Given the description of an element on the screen output the (x, y) to click on. 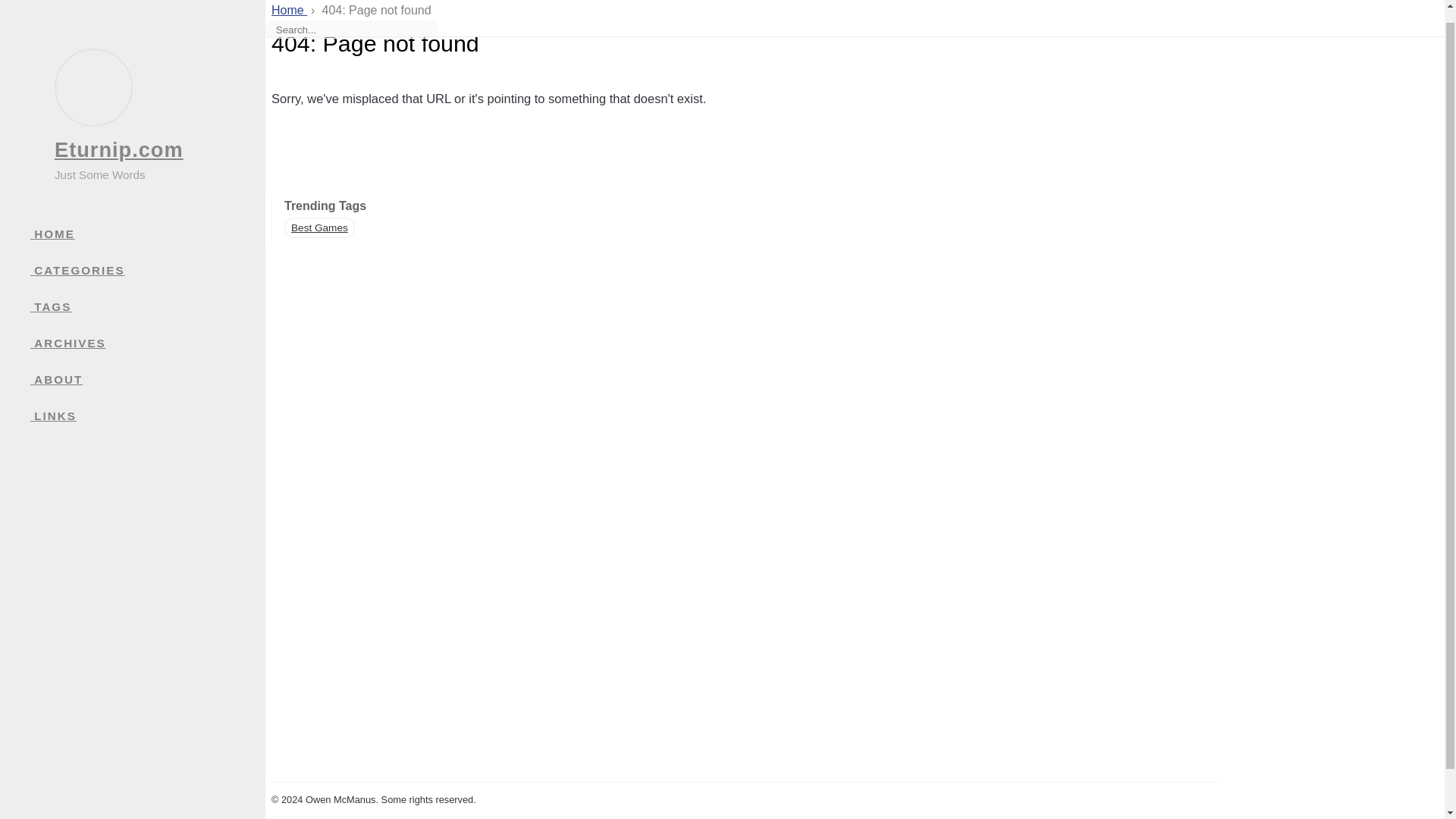
CATEGORIES (147, 257)
ABOUT (147, 366)
Home (288, 2)
Best Games (319, 228)
Eturnip.com (119, 136)
HOME (147, 221)
Owen McManus (340, 799)
ARCHIVES (147, 330)
TAGS (147, 294)
LINKS (146, 402)
